Given the description of an element on the screen output the (x, y) to click on. 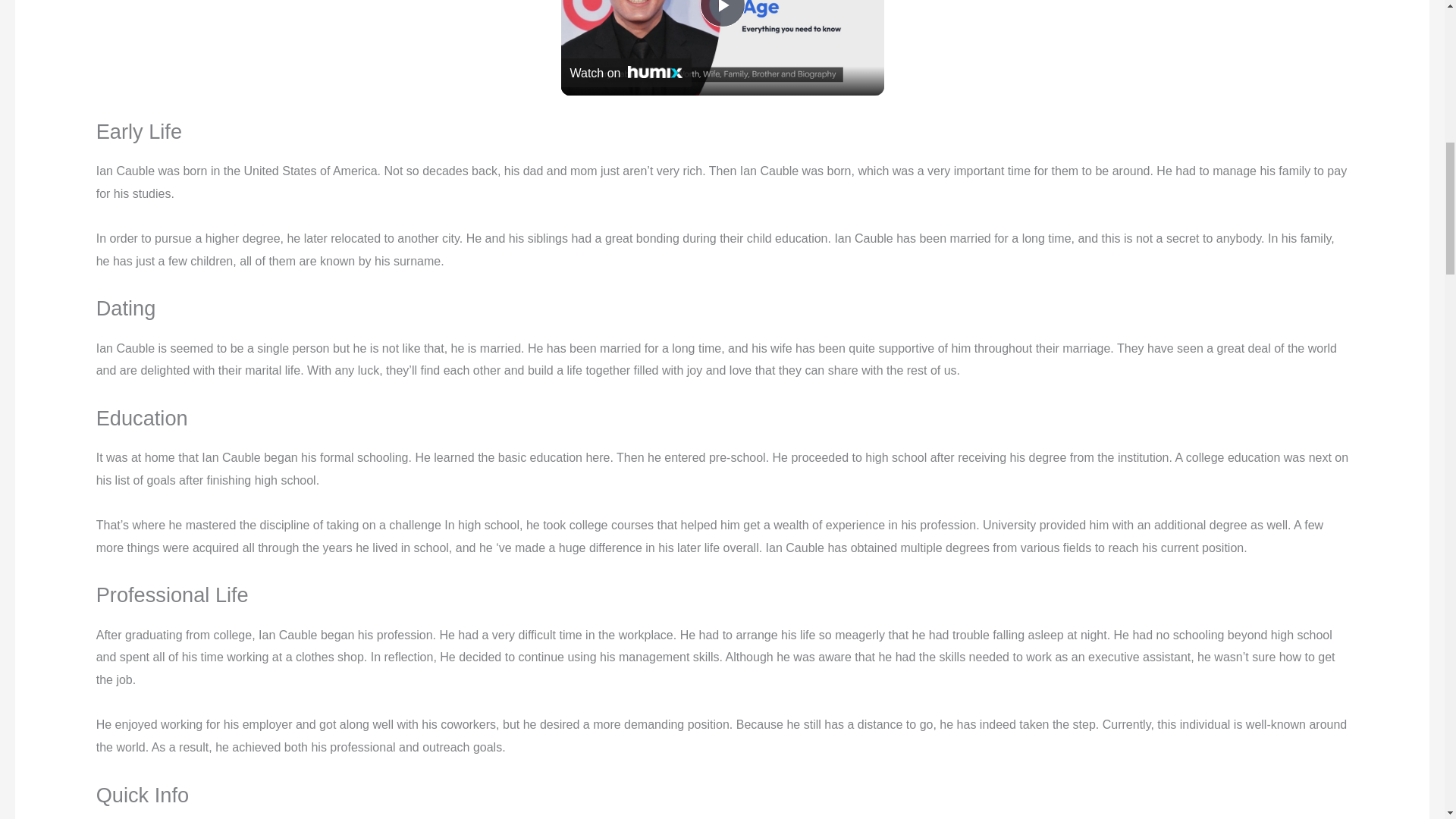
Play Video (721, 13)
Play Video (721, 13)
